Given the description of an element on the screen output the (x, y) to click on. 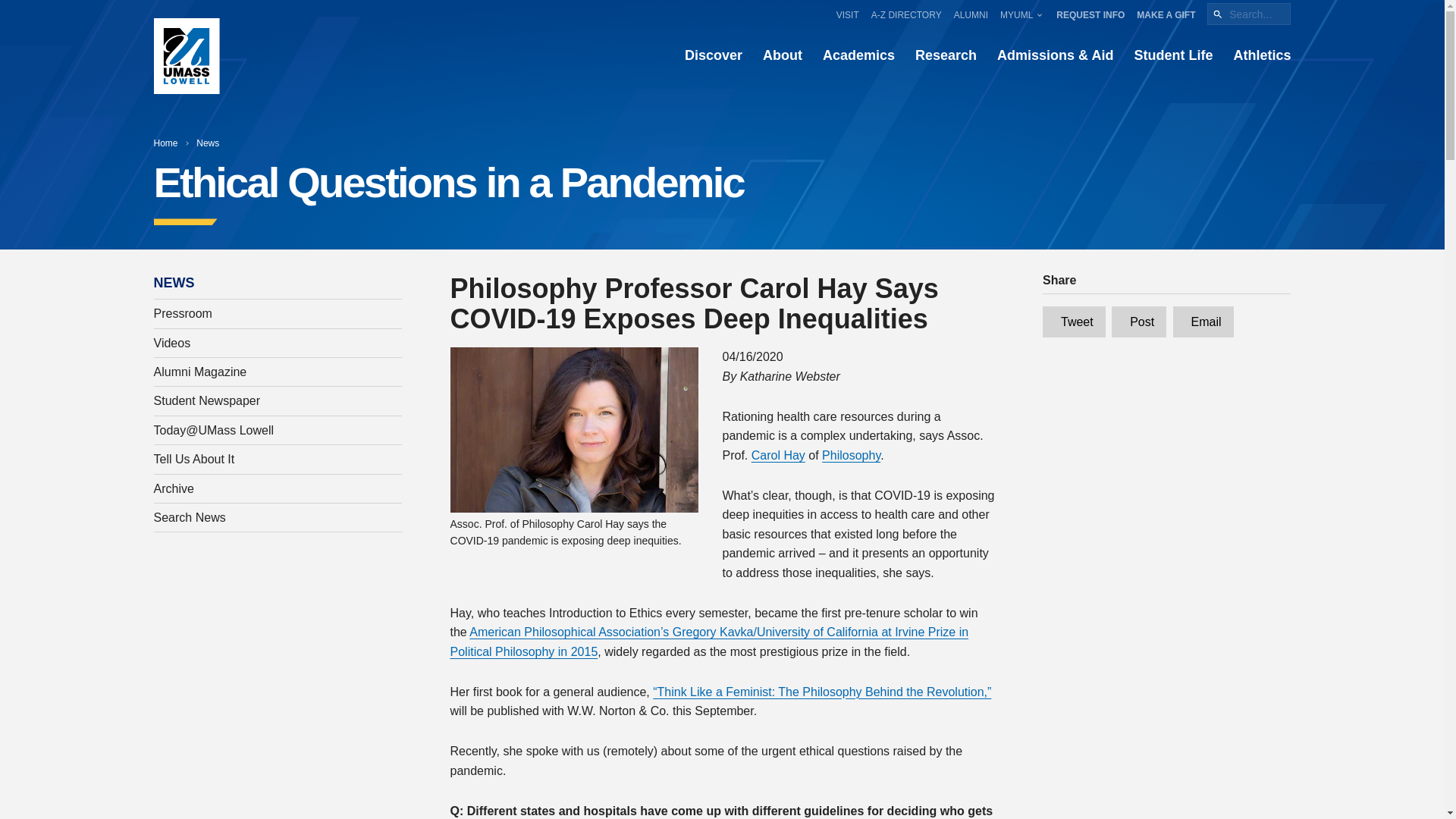
Videos (277, 343)
Think Like a Feminist at W.W. Norton (821, 691)
Visit (847, 14)
Home (165, 143)
Athletics (1261, 55)
News (207, 143)
Request Info (1090, 14)
Philosophy (851, 454)
Alumni (970, 14)
Pressroom (277, 313)
